Given the description of an element on the screen output the (x, y) to click on. 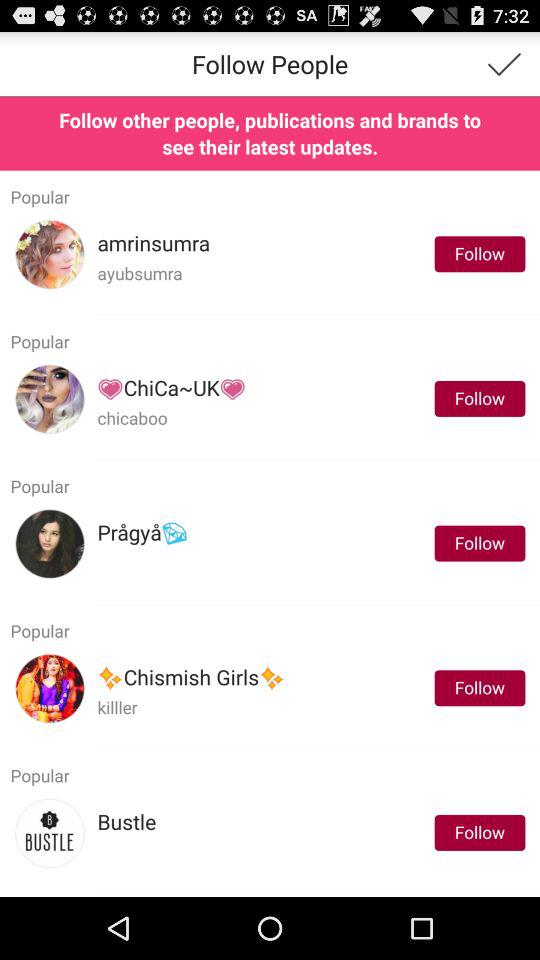
turn on the app below popular icon (171, 388)
